Given the description of an element on the screen output the (x, y) to click on. 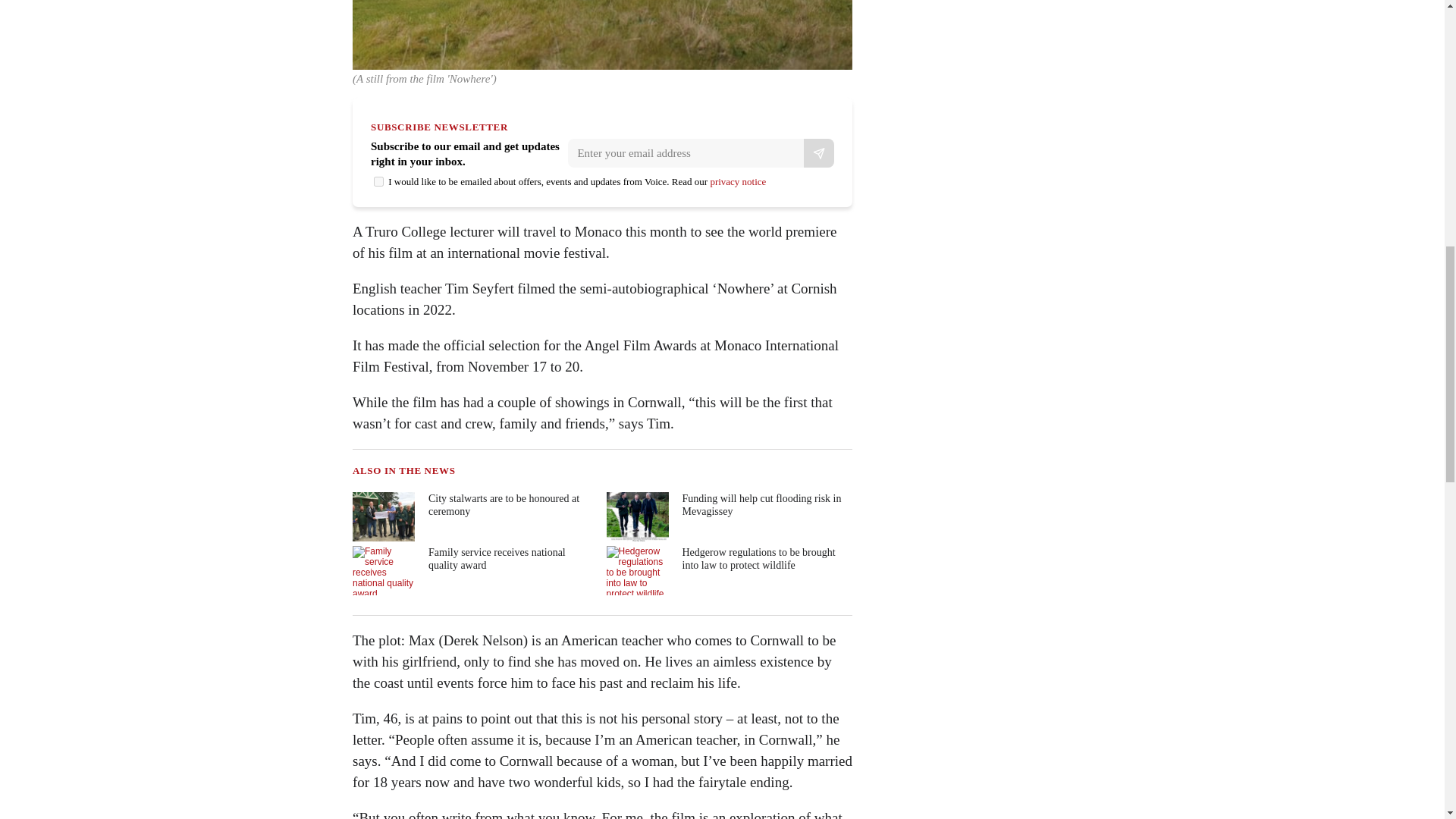
Funding will help cut flooding risk in Mevagissey (727, 516)
City stalwarts are to be honoured at ceremony (473, 516)
on (379, 181)
Family service receives national quality award (473, 570)
privacy notice (737, 181)
